Given the description of an element on the screen output the (x, y) to click on. 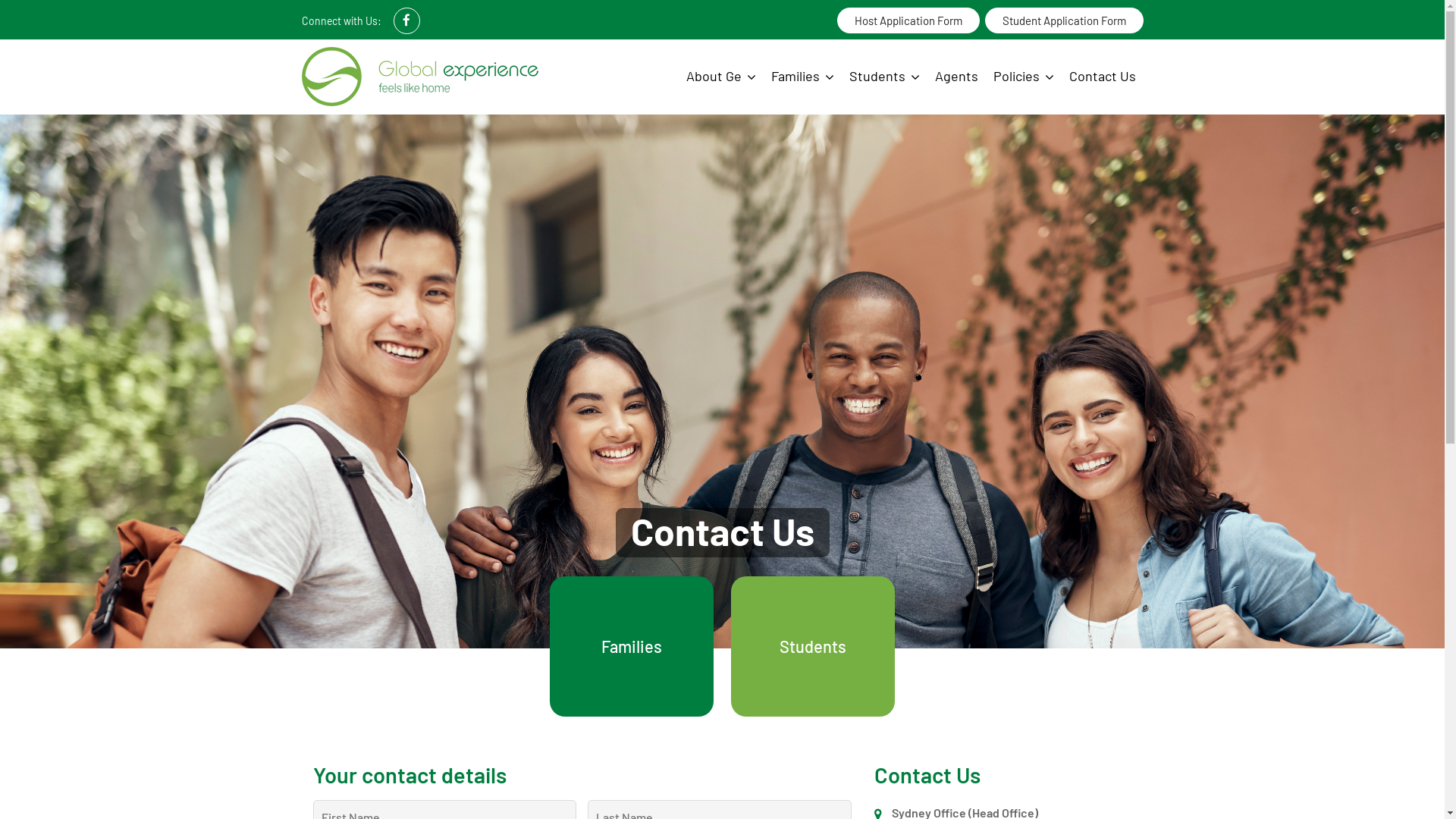
Agents Element type: text (955, 75)
Host Application Form Element type: text (908, 20)
Families Element type: text (631, 646)
Student Application Form Element type: text (1063, 20)
About Ge Element type: text (719, 76)
Policies Element type: text (1023, 76)
Contact Us Element type: text (1102, 75)
Students Element type: text (884, 76)
Families Element type: text (801, 76)
Students Element type: text (812, 646)
